Given the description of an element on the screen output the (x, y) to click on. 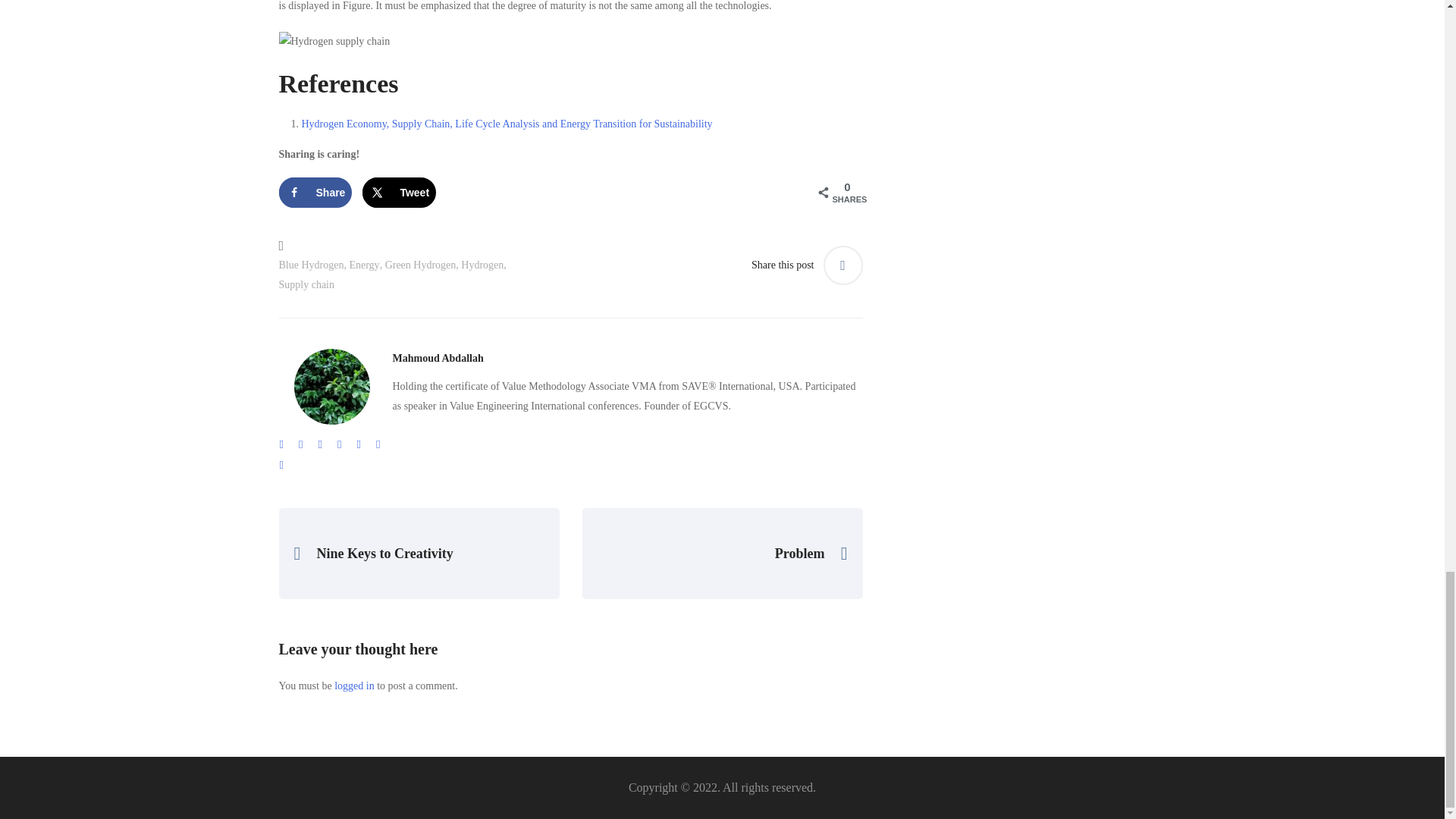
Energy (363, 265)
Share on Facebook (315, 192)
Hydrogen (482, 265)
Supply chain (306, 284)
Green Hydrogen (421, 265)
Blue Hydrogen (311, 265)
Share on X (398, 192)
Tweet (398, 192)
Share (315, 192)
